Given the description of an element on the screen output the (x, y) to click on. 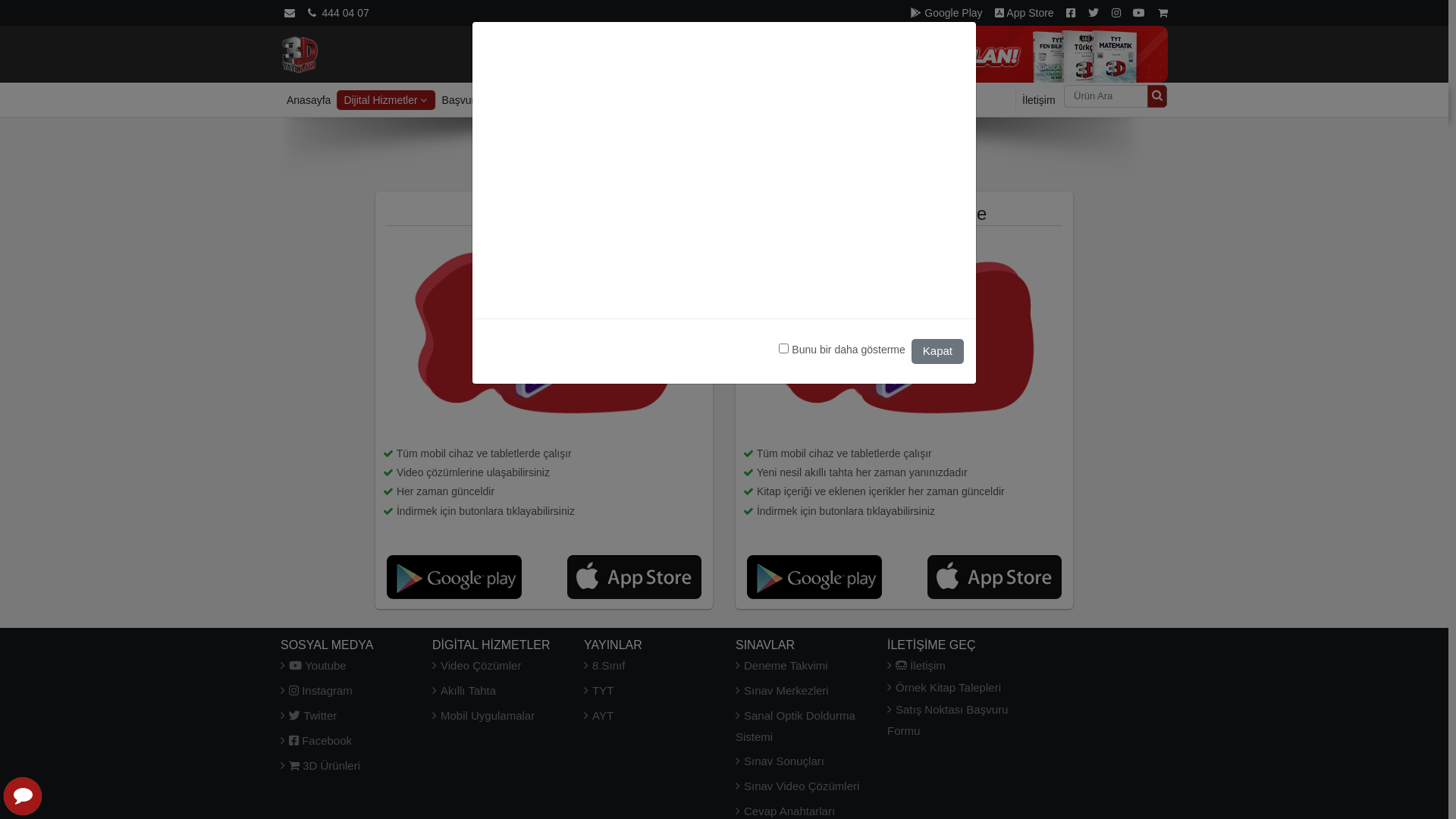
Twitter Element type: text (308, 715)
Youtube Element type: text (313, 664)
Youtube Element type: hover (1138, 12)
TYT Element type: text (598, 690)
Deneme Takvimi Element type: text (781, 664)
Anasayfa Element type: hover (299, 53)
AYT Element type: text (598, 715)
  444 04 07 Element type: text (338, 12)
Facebook Element type: hover (1070, 12)
Facebook Element type: text (315, 740)
Google Play Element type: text (946, 12)
Sepet Element type: hover (1162, 12)
Instagram Element type: text (316, 690)
Instagram Element type: hover (1115, 12)
Kapat Element type: text (937, 351)
Dijital Hizmetler Element type: text (385, 99)
3D Mobil Element type: text (543, 274)
Anasayfa Element type: text (308, 99)
Sanal Optik Doldurma Sistemi Element type: text (795, 726)
Mobil Uygulamalar Element type: text (483, 715)
App Store Element type: text (1023, 12)
Twitter Element type: hover (1093, 12)
